Given the description of an element on the screen output the (x, y) to click on. 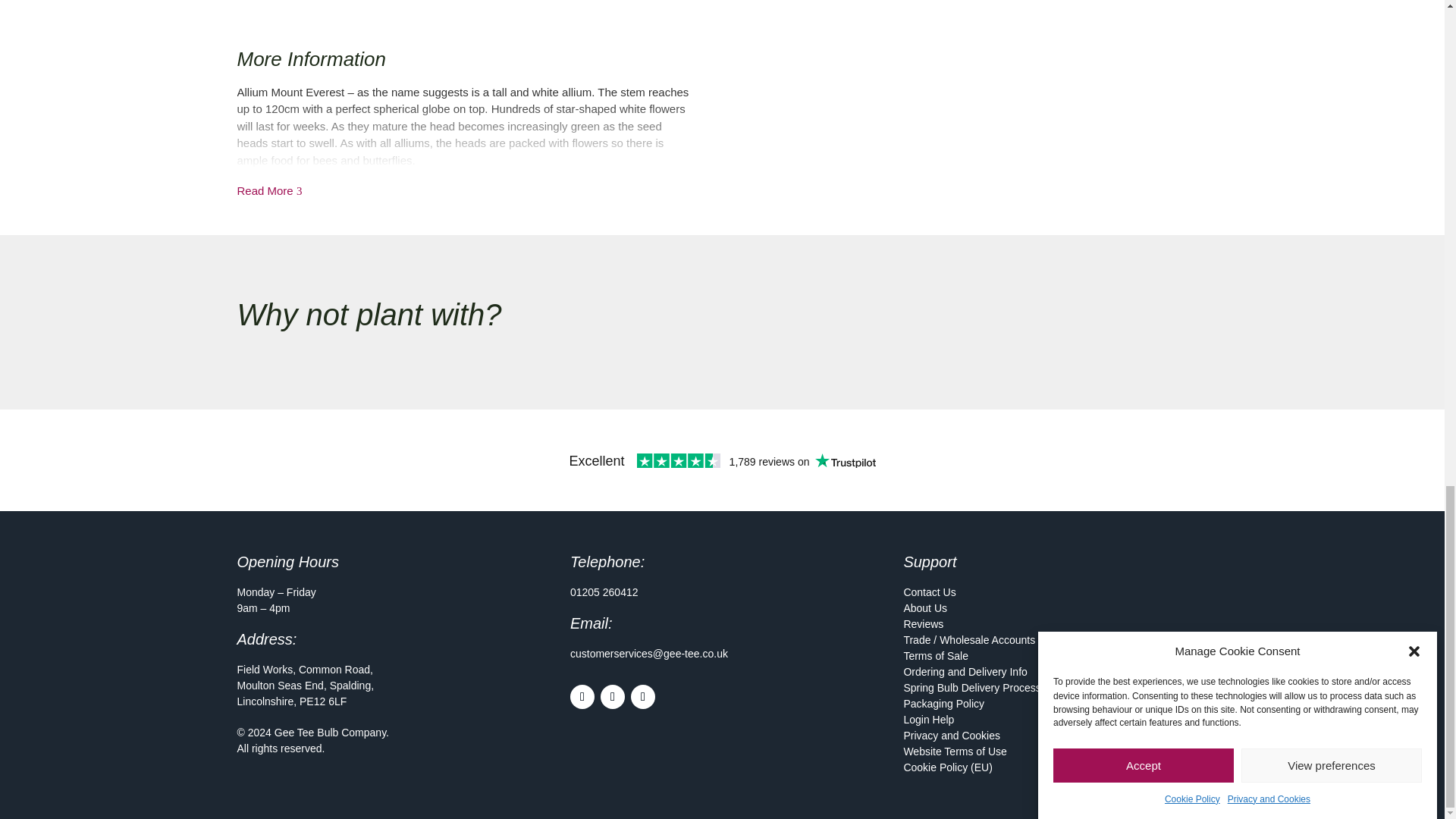
Follow on Instagram (611, 696)
Follow on Youtube (642, 696)
Follow on Facebook (582, 696)
Customer reviews powered by Trustpilot (721, 459)
